Given the description of an element on the screen output the (x, y) to click on. 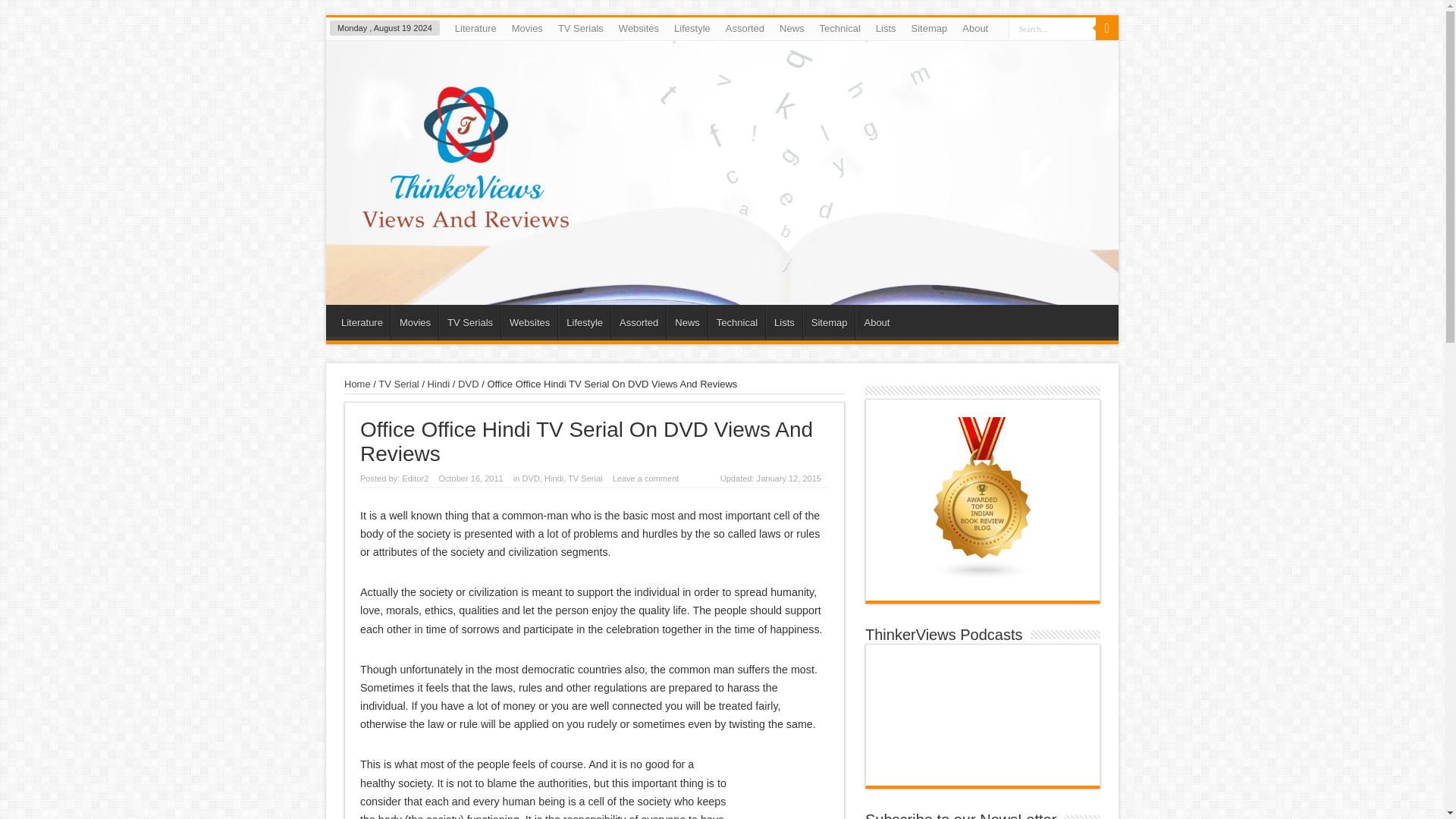
Literature (474, 28)
Technical (839, 28)
Literature (361, 322)
Latest News And Informative Stuff (791, 28)
Website Reviews (638, 28)
Literature Views and Reviews (474, 28)
TV Series Details and Reviews (580, 28)
Search (1107, 28)
Lifestyle (691, 28)
About (975, 28)
